Given the description of an element on the screen output the (x, y) to click on. 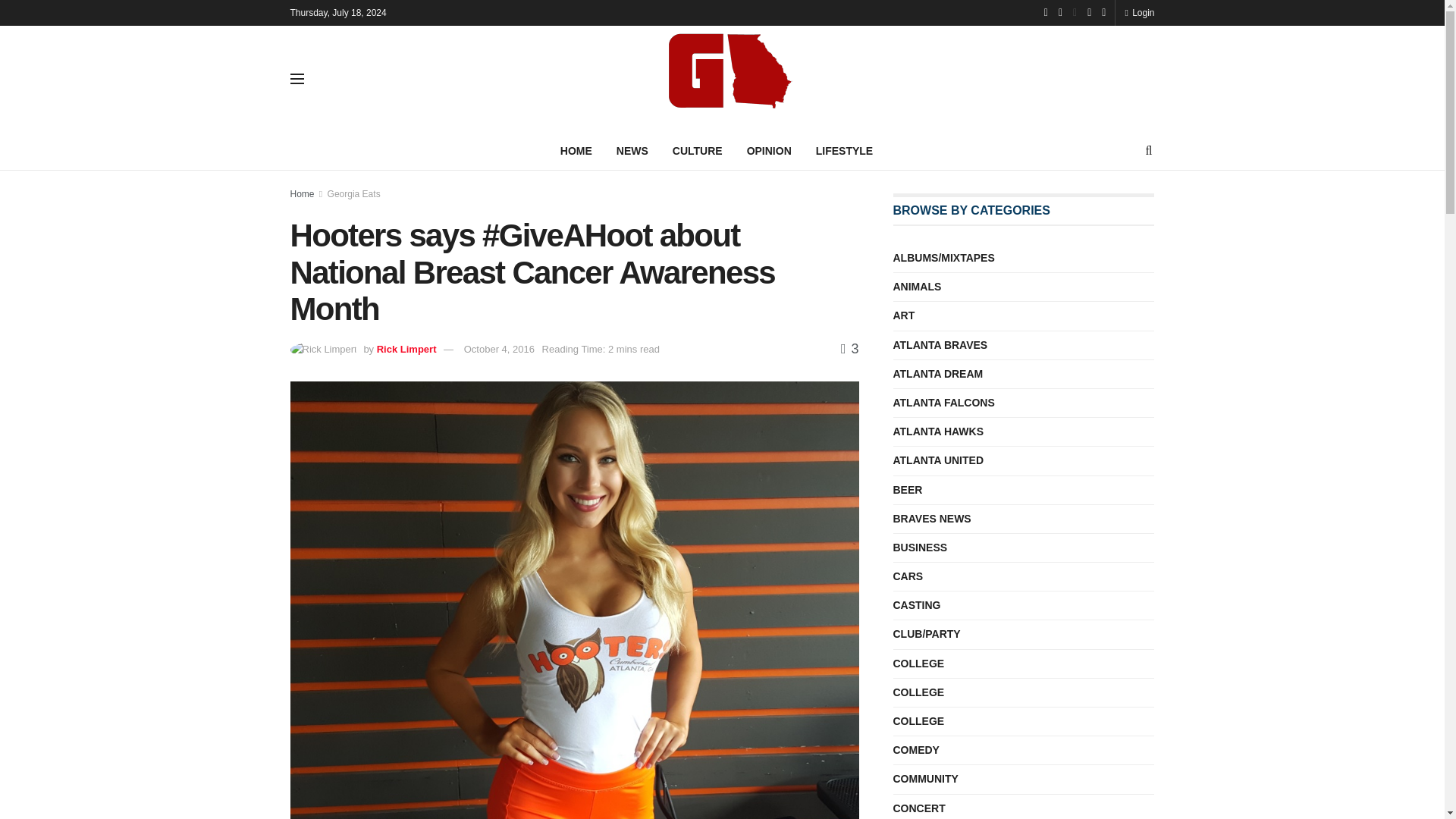
3 (850, 348)
October 4, 2016 (499, 348)
Rick Limpert (406, 348)
CULTURE (698, 150)
HOME (576, 150)
Home (301, 194)
LIFESTYLE (844, 150)
NEWS (632, 150)
Georgia Eats (353, 194)
OPINION (769, 150)
Login (1139, 12)
